Given the description of an element on the screen output the (x, y) to click on. 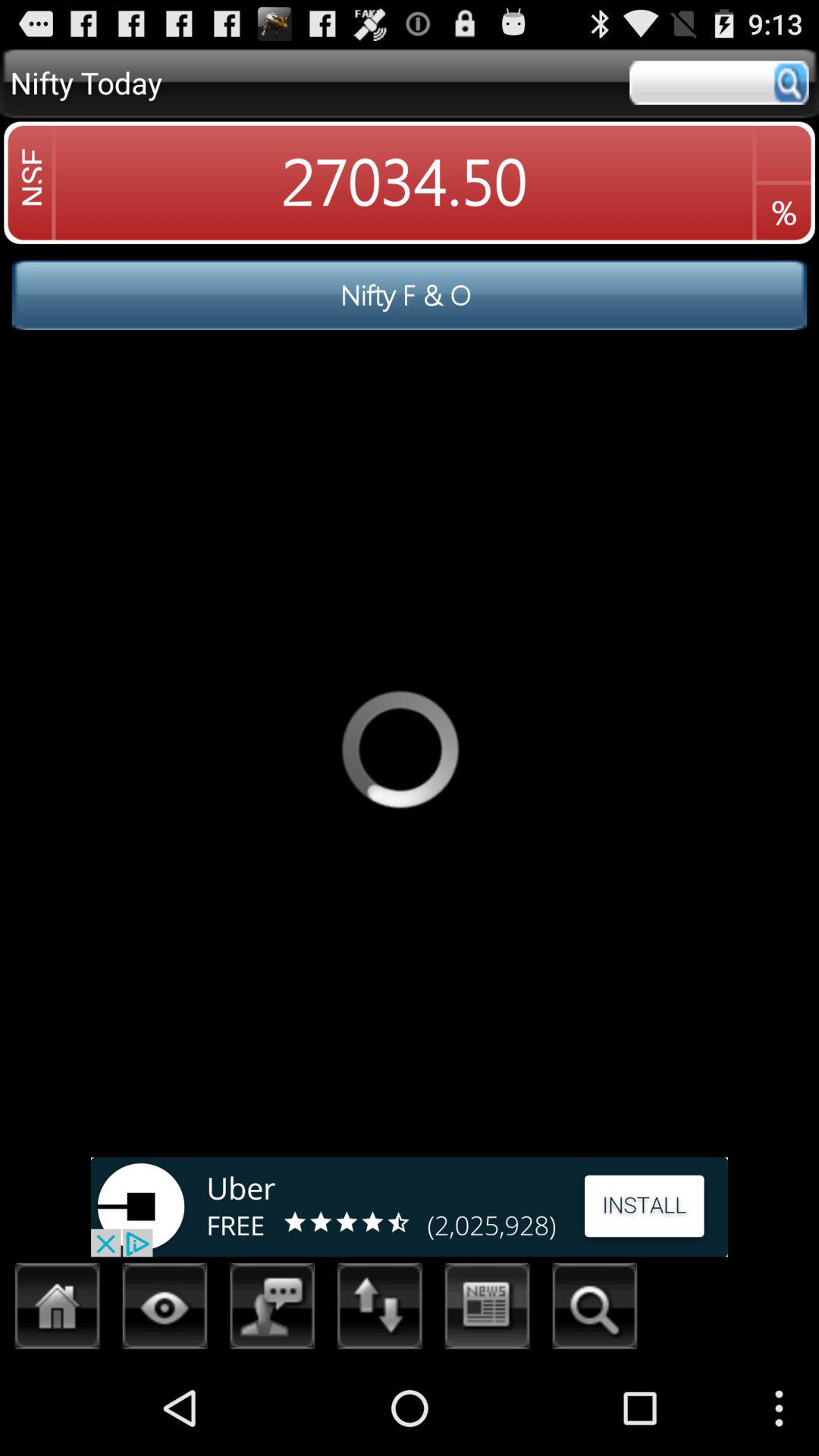
search (594, 1310)
